Given the description of an element on the screen output the (x, y) to click on. 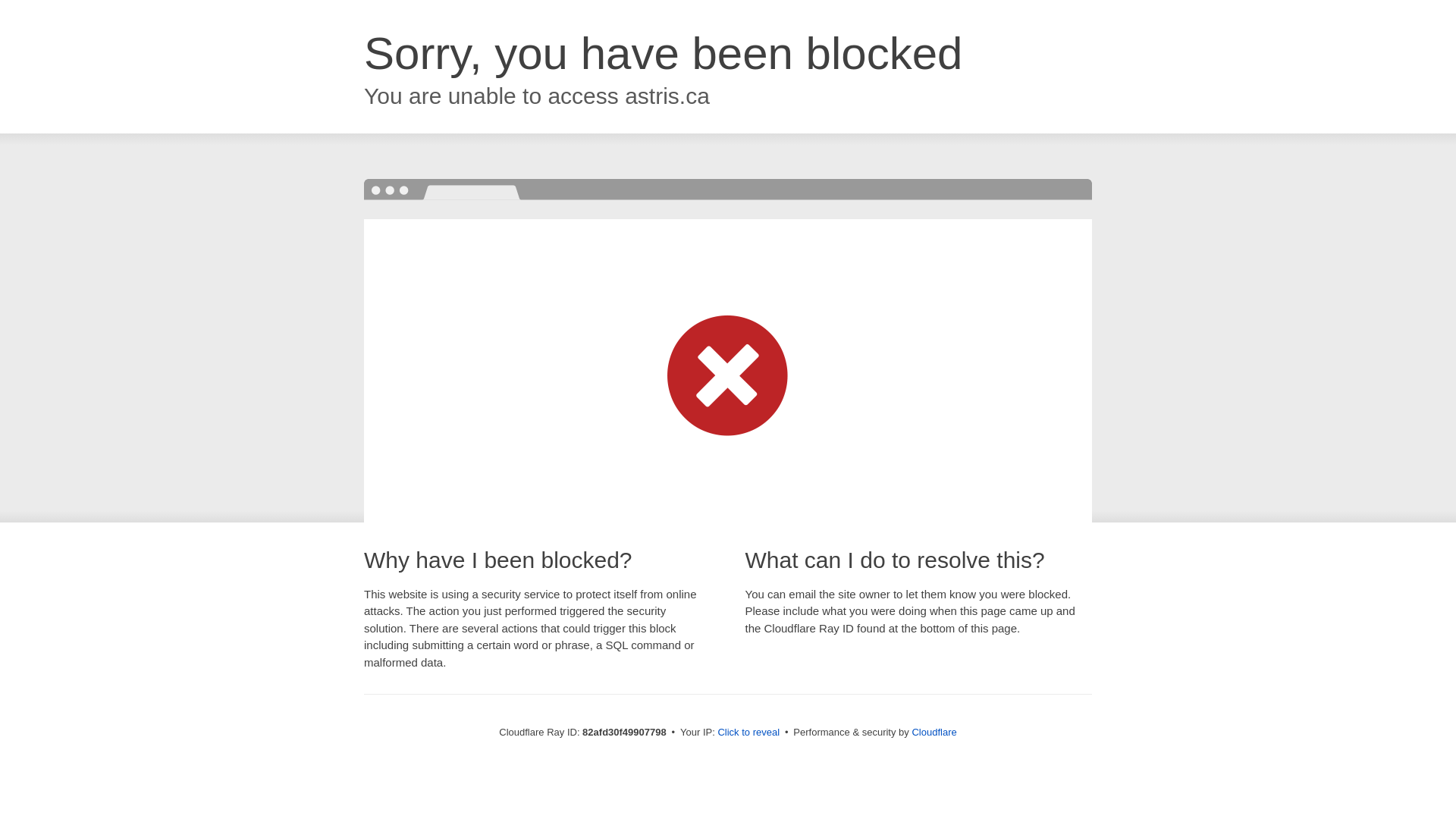
Click to reveal Element type: text (748, 732)
Cloudflare Element type: text (933, 731)
